Given the description of an element on the screen output the (x, y) to click on. 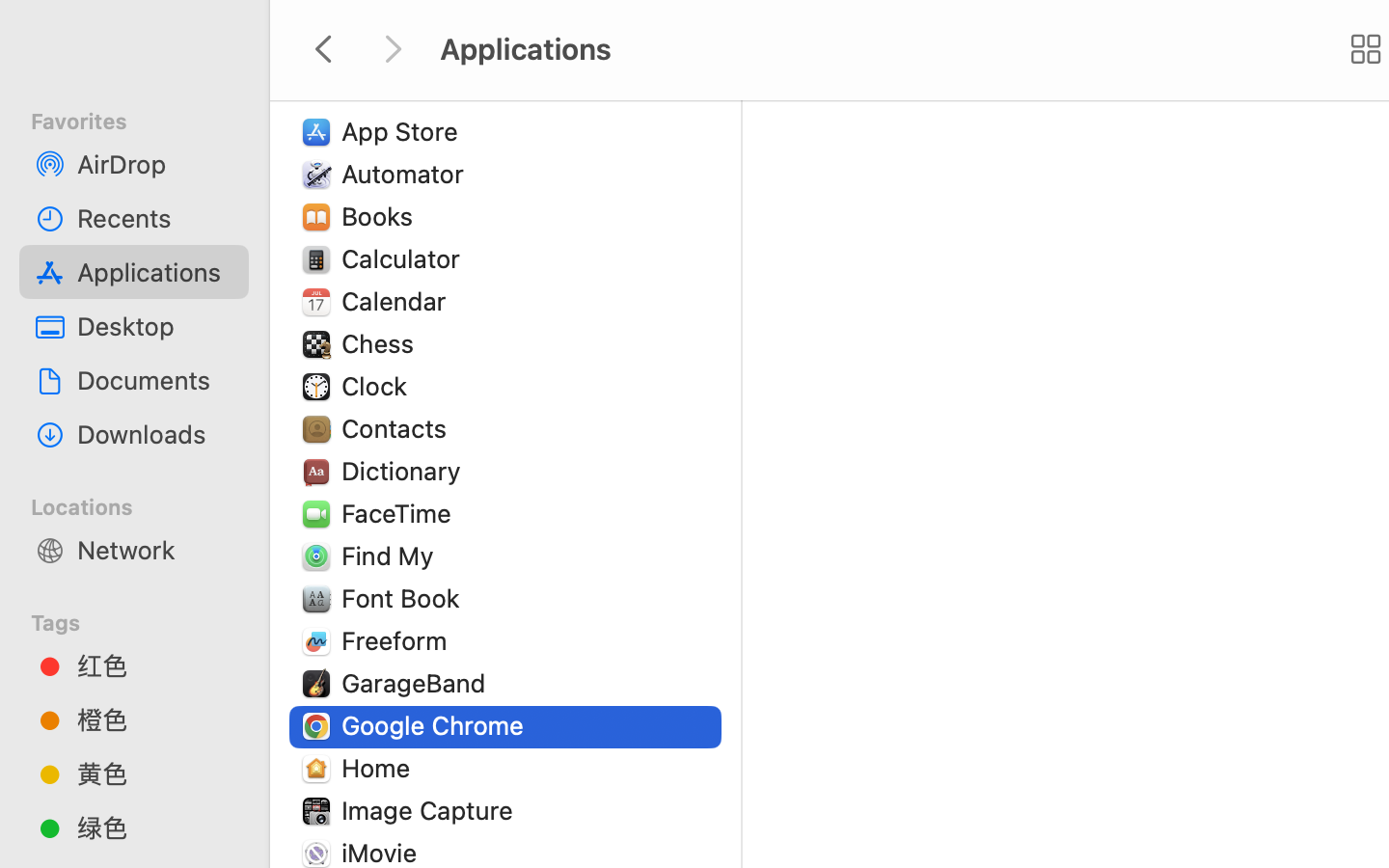
绿色 Element type: AXStaticText (155, 827)
FaceTime Element type: AXTextField (400, 512)
红色 Element type: AXStaticText (155, 665)
橙色 Element type: AXStaticText (155, 719)
Documents Element type: AXStaticText (155, 379)
